Given the description of an element on the screen output the (x, y) to click on. 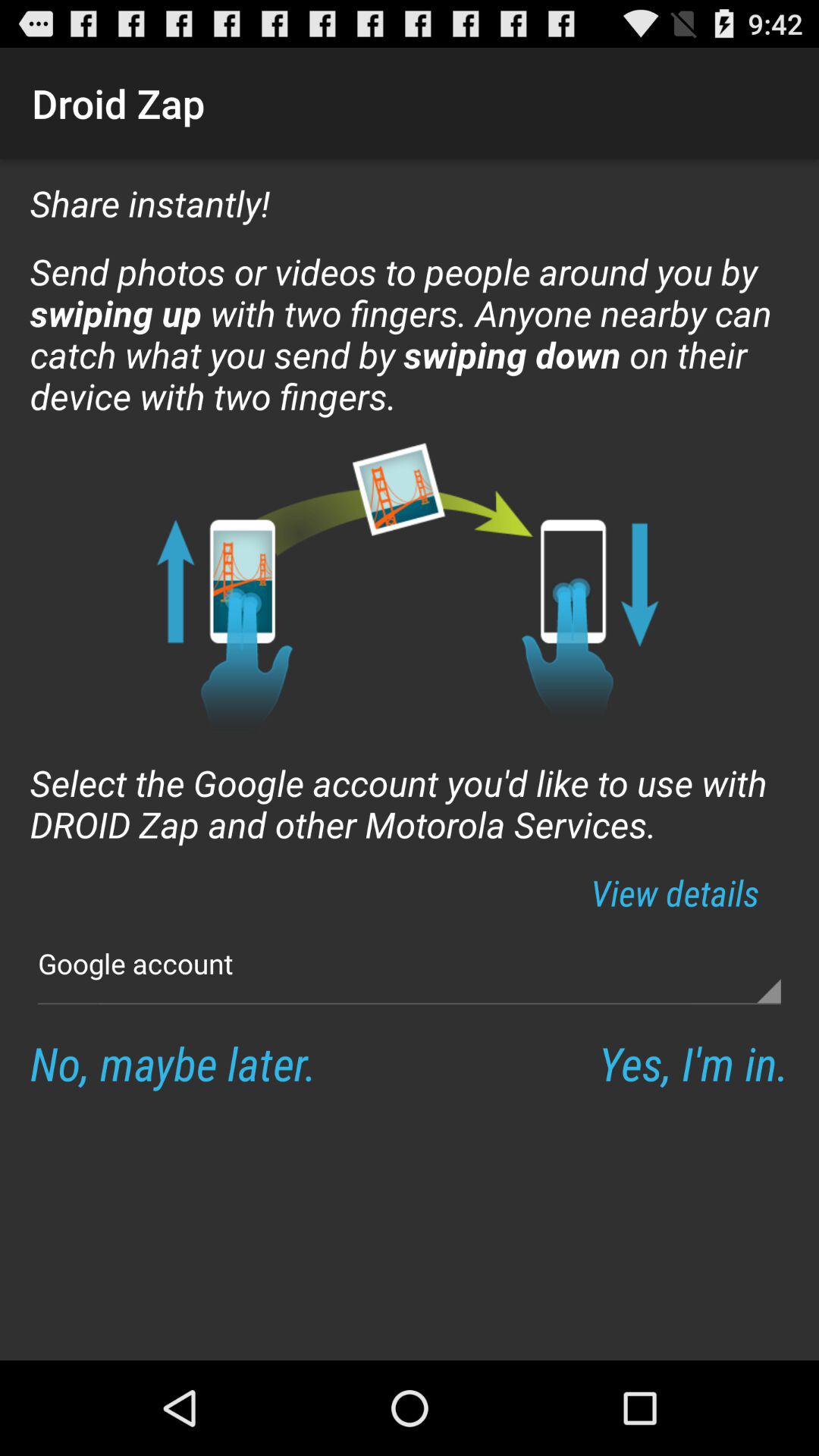
press the yes i m app (693, 1062)
